Given the description of an element on the screen output the (x, y) to click on. 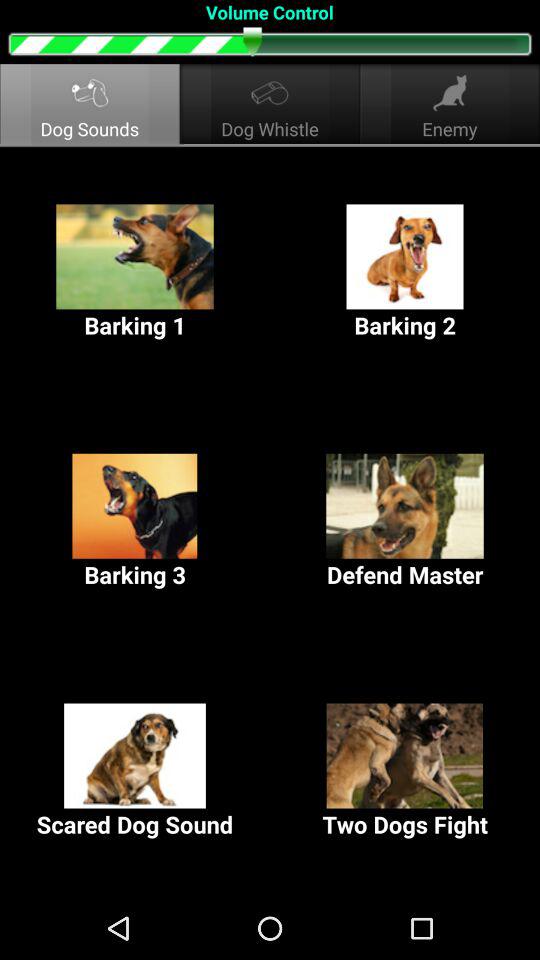
select button below the barking 3 (135, 771)
